Given the description of an element on the screen output the (x, y) to click on. 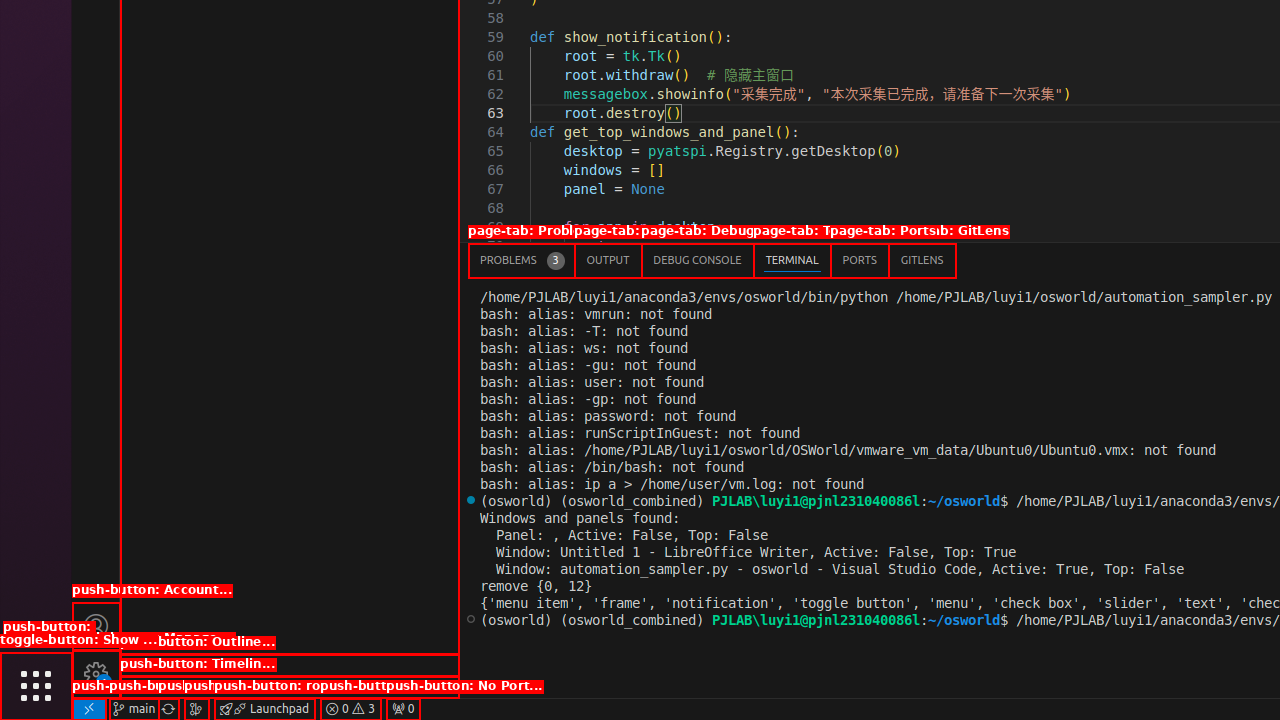
GitLens Element type: page-tab (922, 260)
remote Element type: push-button (89, 709)
rocket gitlens-unplug Launchpad, GitLens Launchpad ᴘʀᴇᴠɪᴇᴡ    &mdash;    [$(question)](command:gitlens.launchpad.indicator.action?%22info%22 "What is this?") [$(gear)](command:workbench.action.openSettings?%22gitlens.launchpad%22 "Settings")  |  [$(circle-slash) Hide](command:gitlens.launchpad.indicator.action?%22hide%22 "Hide") --- [Launchpad](command:gitlens.launchpad.indicator.action?%info%22 "Learn about Launchpad") organizes your pull requests into actionable groups to help you focus and keep your team unblocked. It's always accessible using the `GitLens: Open Launchpad` command from the Command Palette. --- [Connect an integration](command:gitlens.showLaunchpad?%7B%22source%22%3A%22launchpad-indicator%22%7D "Connect an integration") to get started. Element type: push-button (264, 709)
Outline Section Element type: push-button (289, 665)
Show the GitLens Commit Graph Element type: push-button (196, 709)
